Given the description of an element on the screen output the (x, y) to click on. 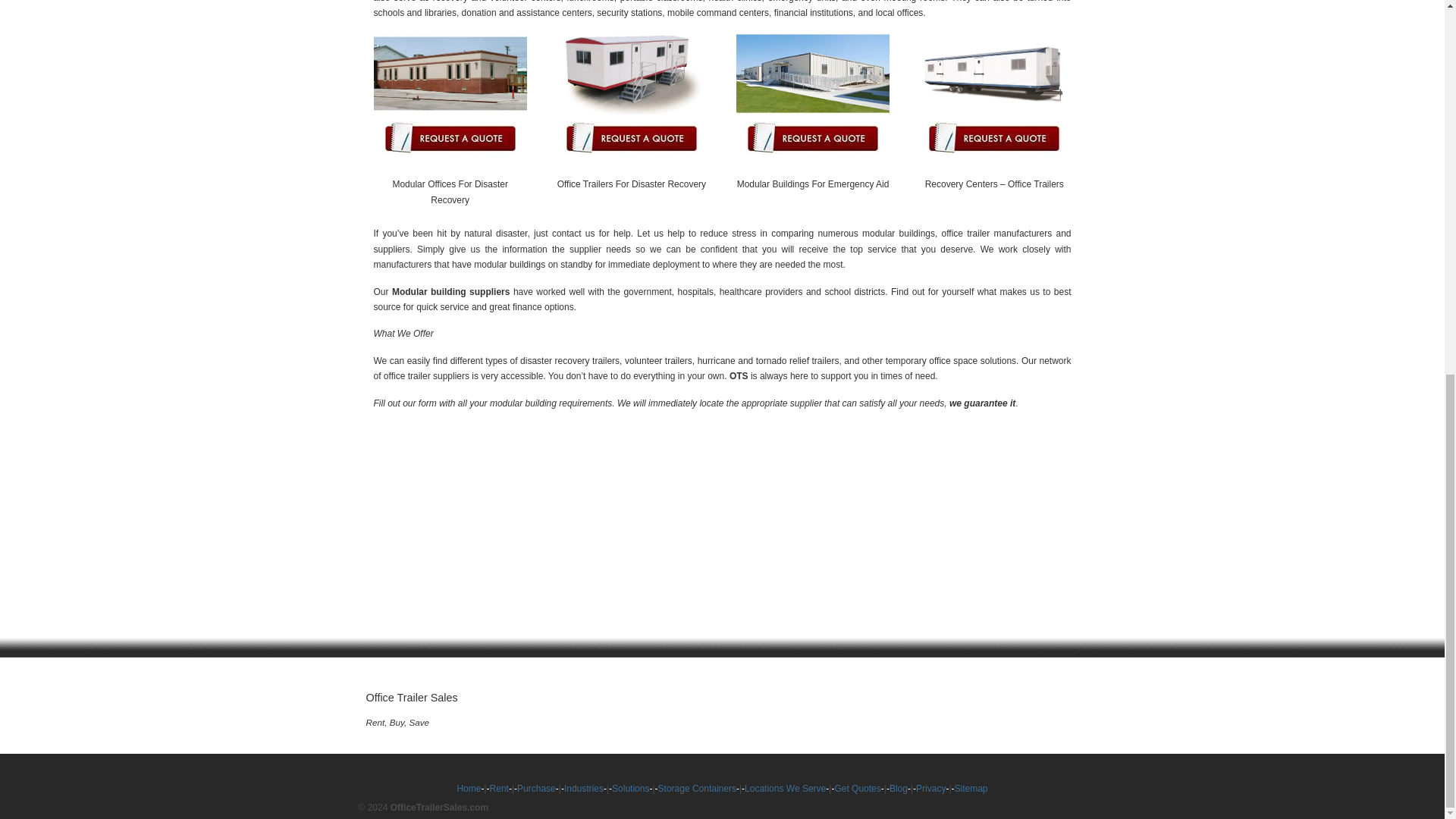
Solutions (630, 787)
Sitemap (971, 787)
Blog (898, 787)
Purchase (536, 787)
Locations We Serve (784, 787)
Home (468, 787)
Storage Containers (697, 787)
Industries (584, 787)
Rent (498, 787)
Get Quotes (857, 787)
Privacy (929, 787)
